Given the description of an element on the screen output the (x, y) to click on. 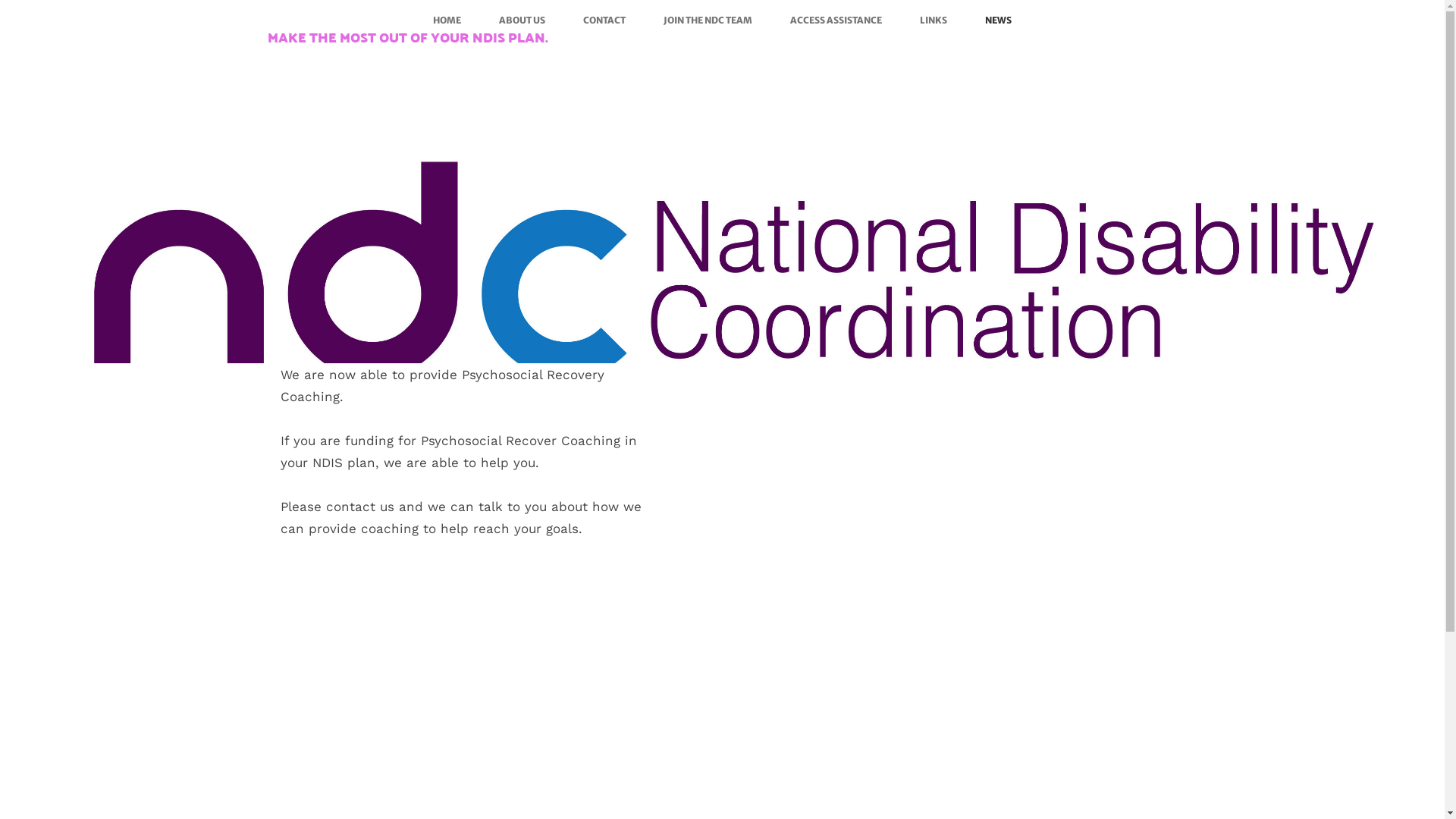
ABOUT US Element type: text (521, 20)
JOIN THE NDC TEAM Element type: text (707, 20)
CONTACT Element type: text (603, 20)
HOME Element type: text (446, 20)
NEWS Element type: text (997, 20)
ACCESS ASSISTANCE Element type: text (836, 20)
LINKS Element type: text (933, 20)
